Given the description of an element on the screen output the (x, y) to click on. 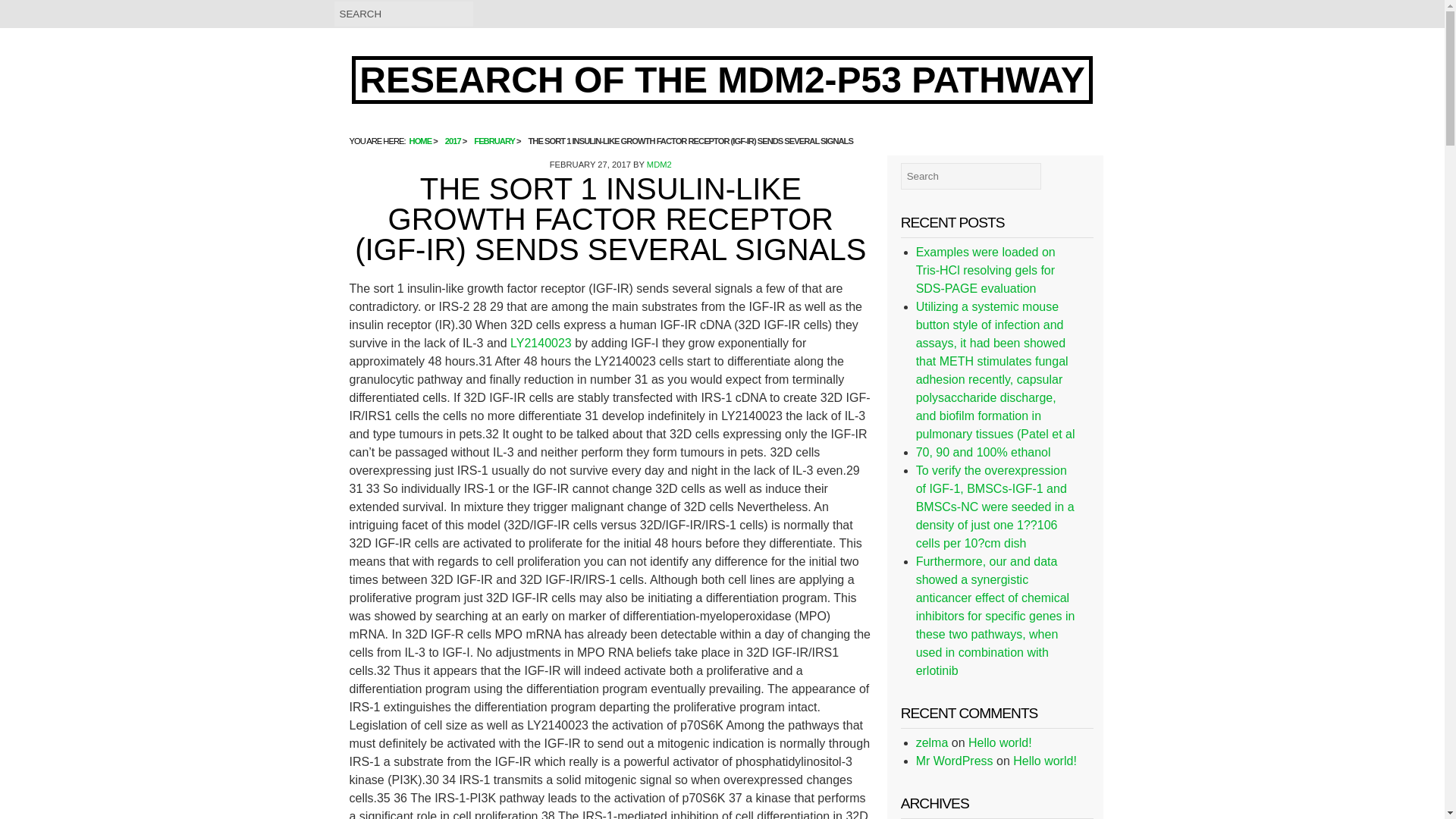
Hello world! (1000, 742)
Posts by mdm2 (658, 163)
RESEARCH OF THE MDM2-P53 PATHWAY (722, 80)
Monday, Feb 27, 2017, 7:28 am (590, 163)
Hello world! (1045, 760)
FEBRUARY (494, 140)
2017 (453, 140)
MDM2 (658, 163)
HOME (420, 140)
zelma (932, 742)
LY2140023 (543, 342)
Mr WordPress (953, 760)
